Given the description of an element on the screen output the (x, y) to click on. 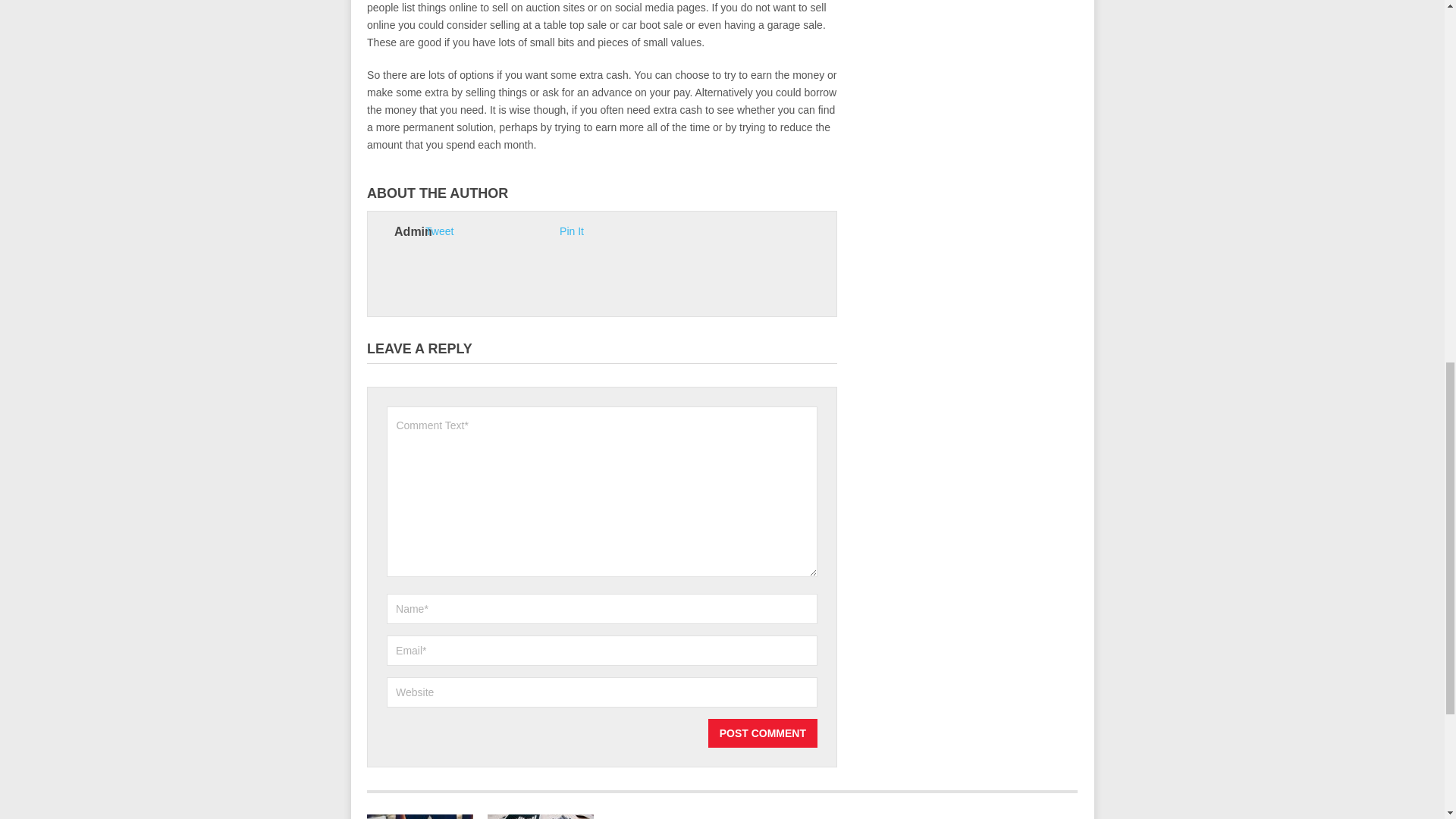
Post Comment (761, 733)
Admin (413, 231)
Post Comment (761, 733)
